Given the description of an element on the screen output the (x, y) to click on. 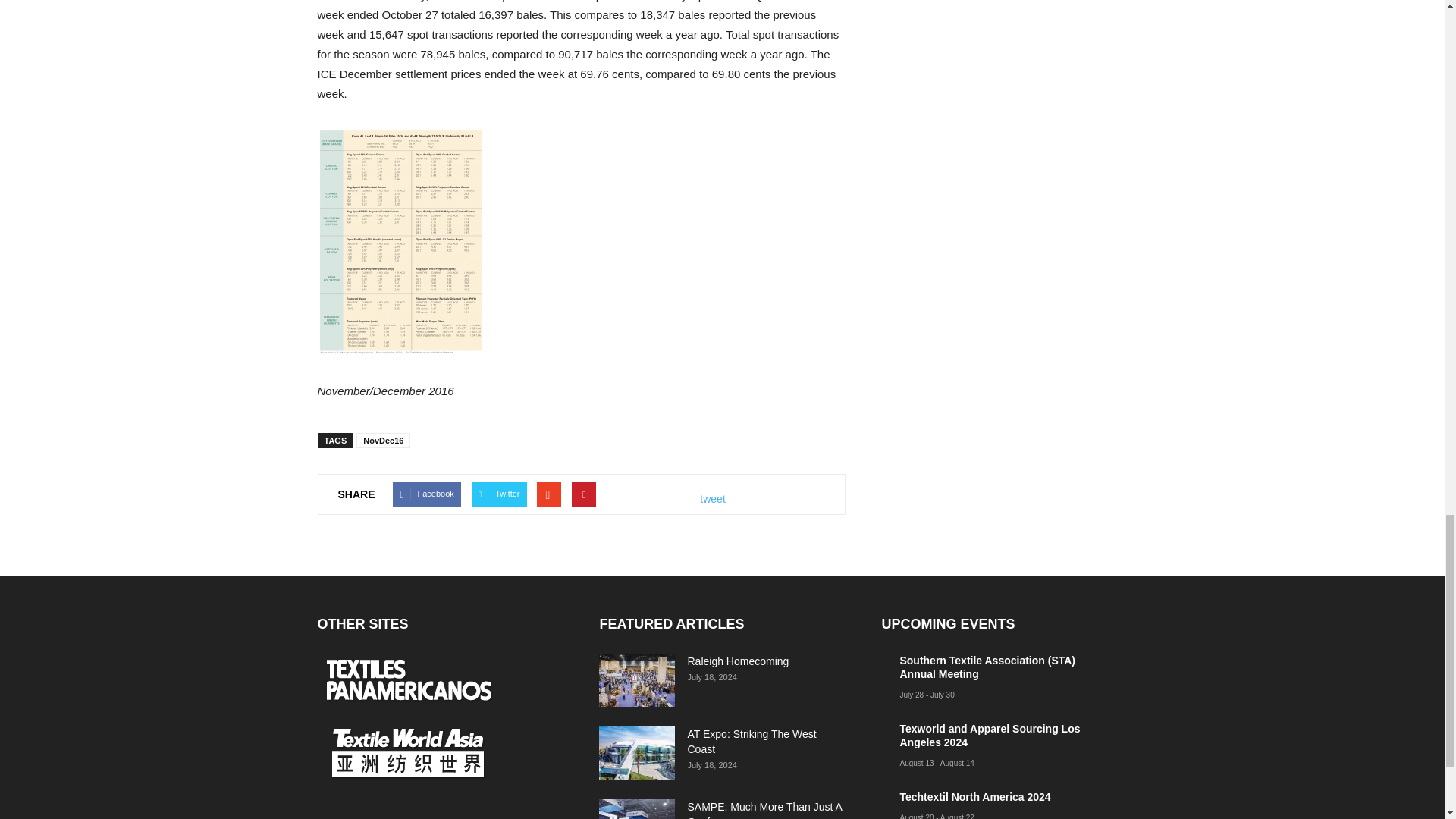
AT Expo: Striking The West Coast (751, 741)
AT Expo: Striking The West Coast (636, 752)
SAMPE: Much More Than Just A Conference (636, 809)
